Given the description of an element on the screen output the (x, y) to click on. 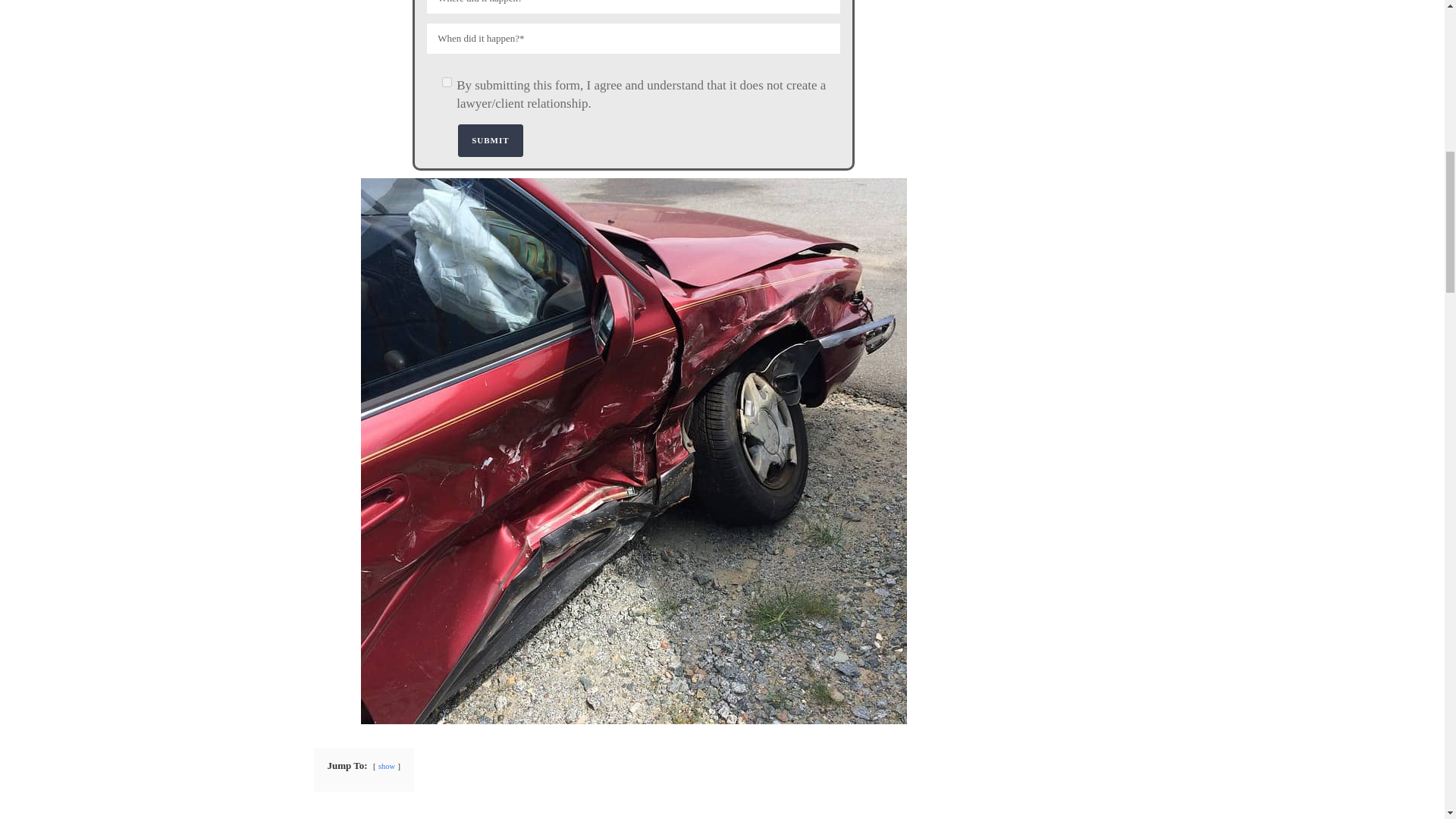
. (446, 81)
Submit (490, 140)
